Given the description of an element on the screen output the (x, y) to click on. 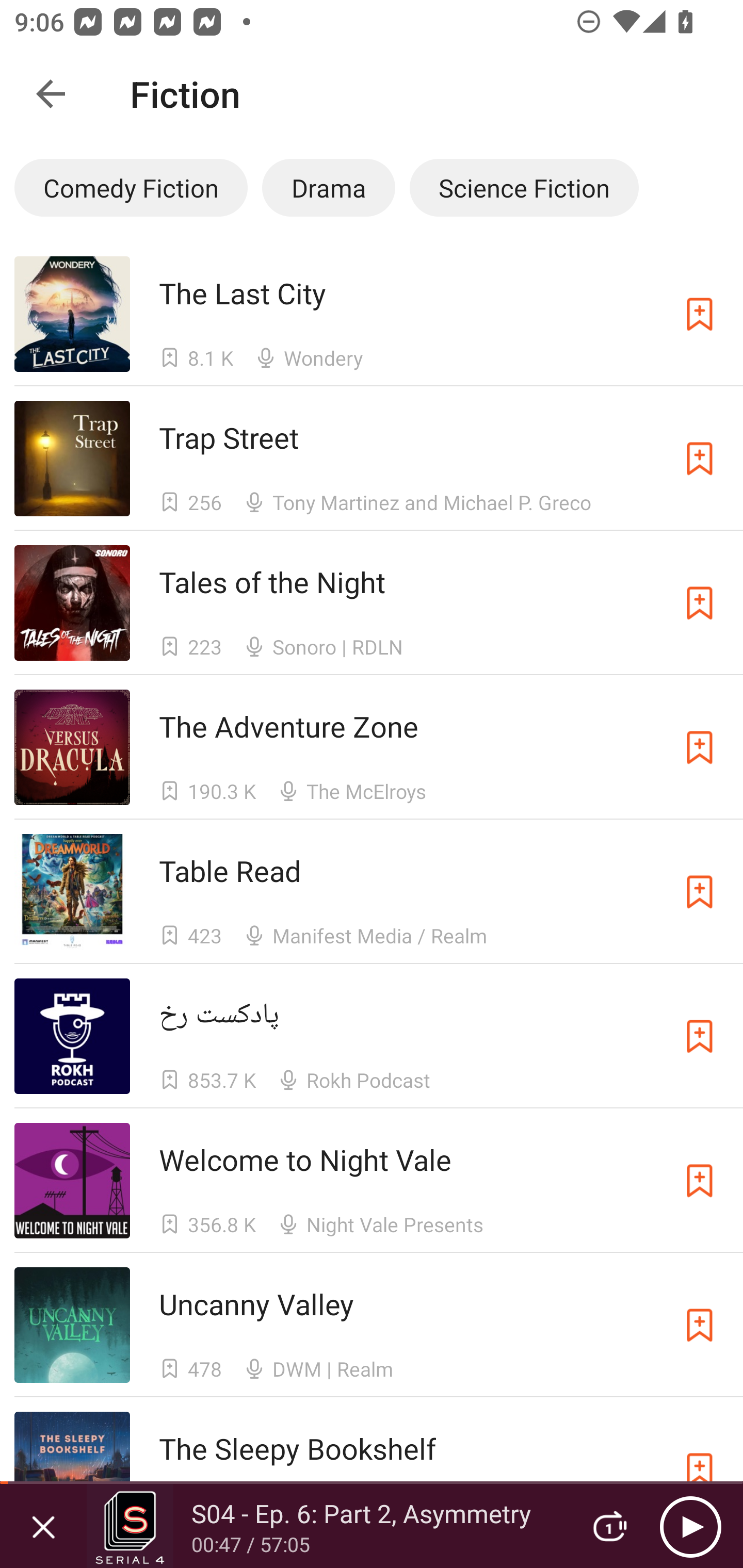
Navigate up (50, 93)
Comedy Fiction (130, 187)
Drama (328, 187)
Science Fiction (523, 187)
Subscribe (699, 313)
Subscribe (699, 458)
Subscribe (699, 602)
Subscribe (699, 746)
Subscribe (699, 892)
Subscribe (699, 1036)
Subscribe (699, 1180)
Subscribe (699, 1324)
Subscribe (699, 1469)
S04 - Ep. 6: Part 2, Asymmetry 00:47 / 57:05 (326, 1525)
Play (690, 1526)
